Given the description of an element on the screen output the (x, y) to click on. 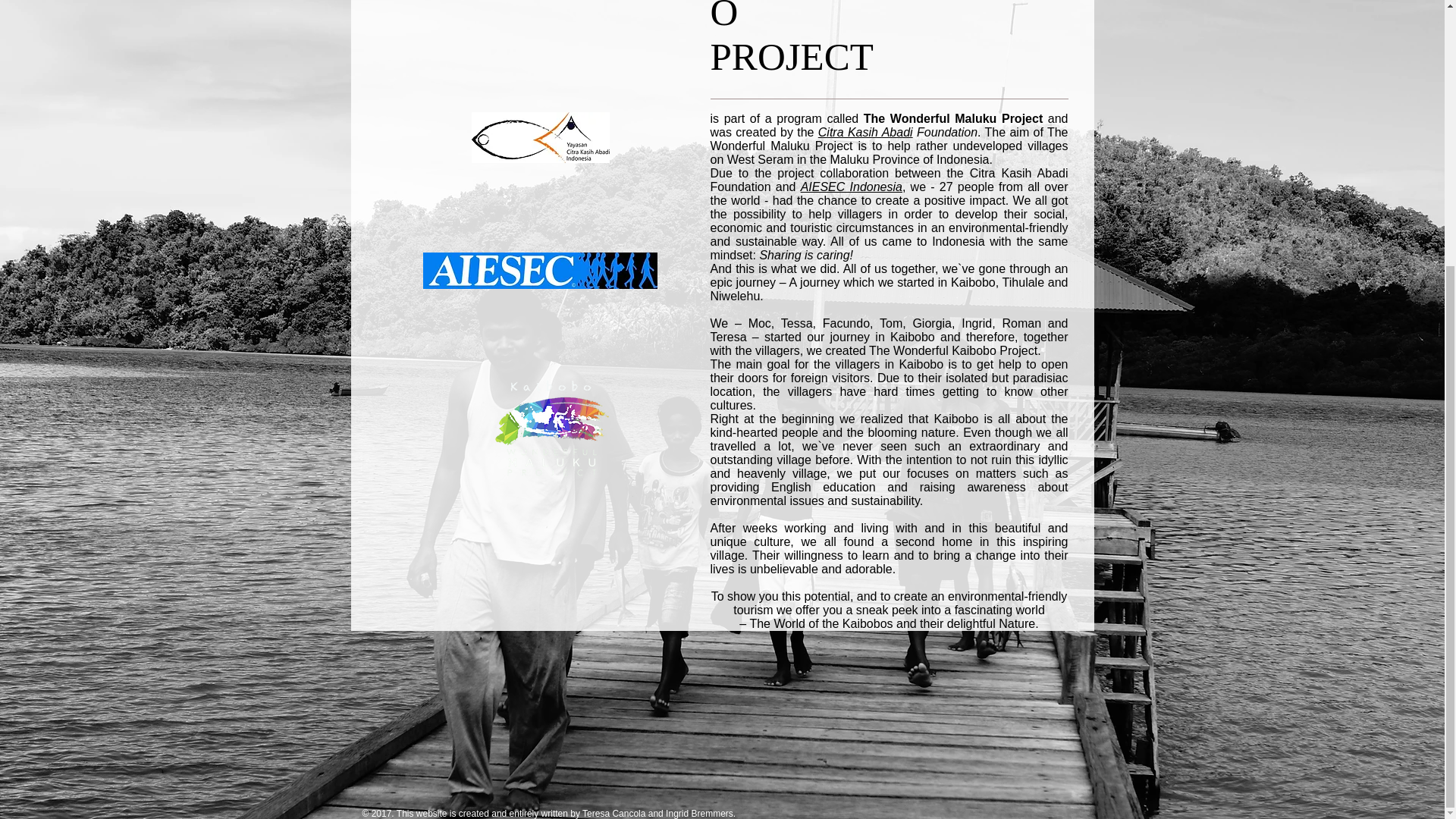
AIESEC Indonesia (851, 186)
Citra Kasih Abadi (865, 132)
The Wonderful Maluku Project (540, 137)
The Wonderful Maluku Project (548, 434)
The Wonderful Maluku Project (540, 270)
